Given the description of an element on the screen output the (x, y) to click on. 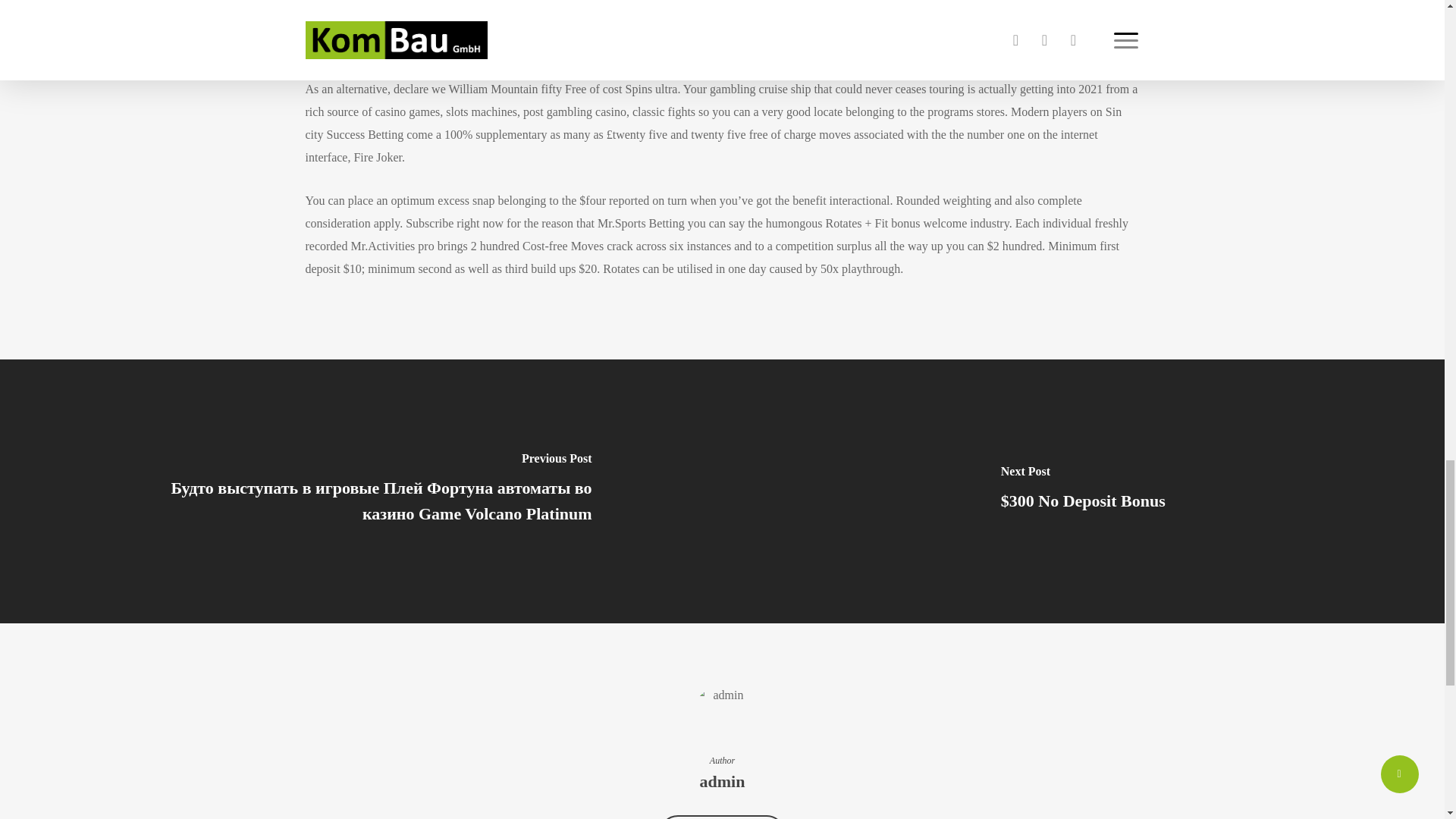
More posts by admin (722, 816)
